Given the description of an element on the screen output the (x, y) to click on. 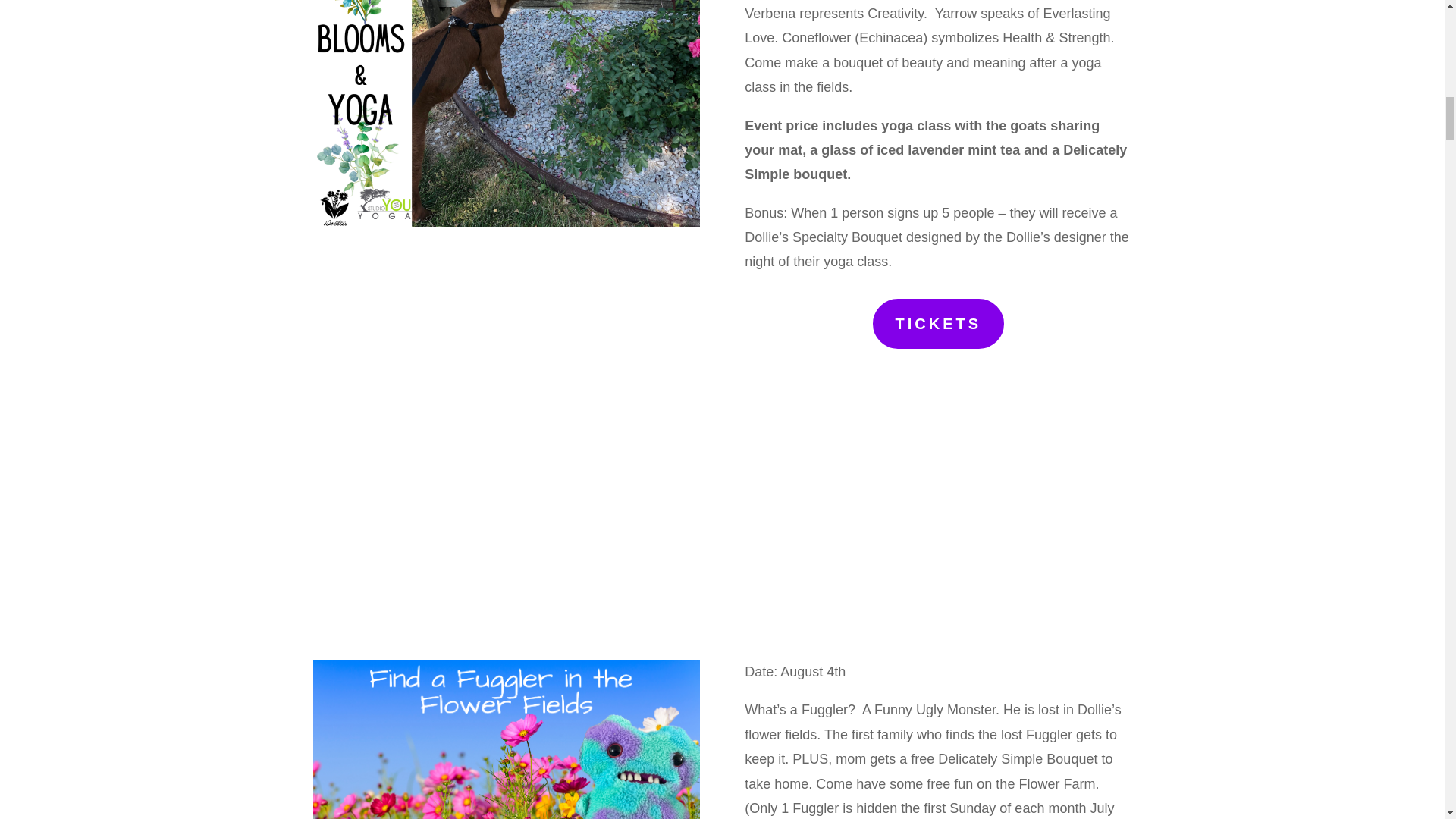
Fuggler (505, 739)
Baa Baa Blooms (505, 113)
